Given the description of an element on the screen output the (x, y) to click on. 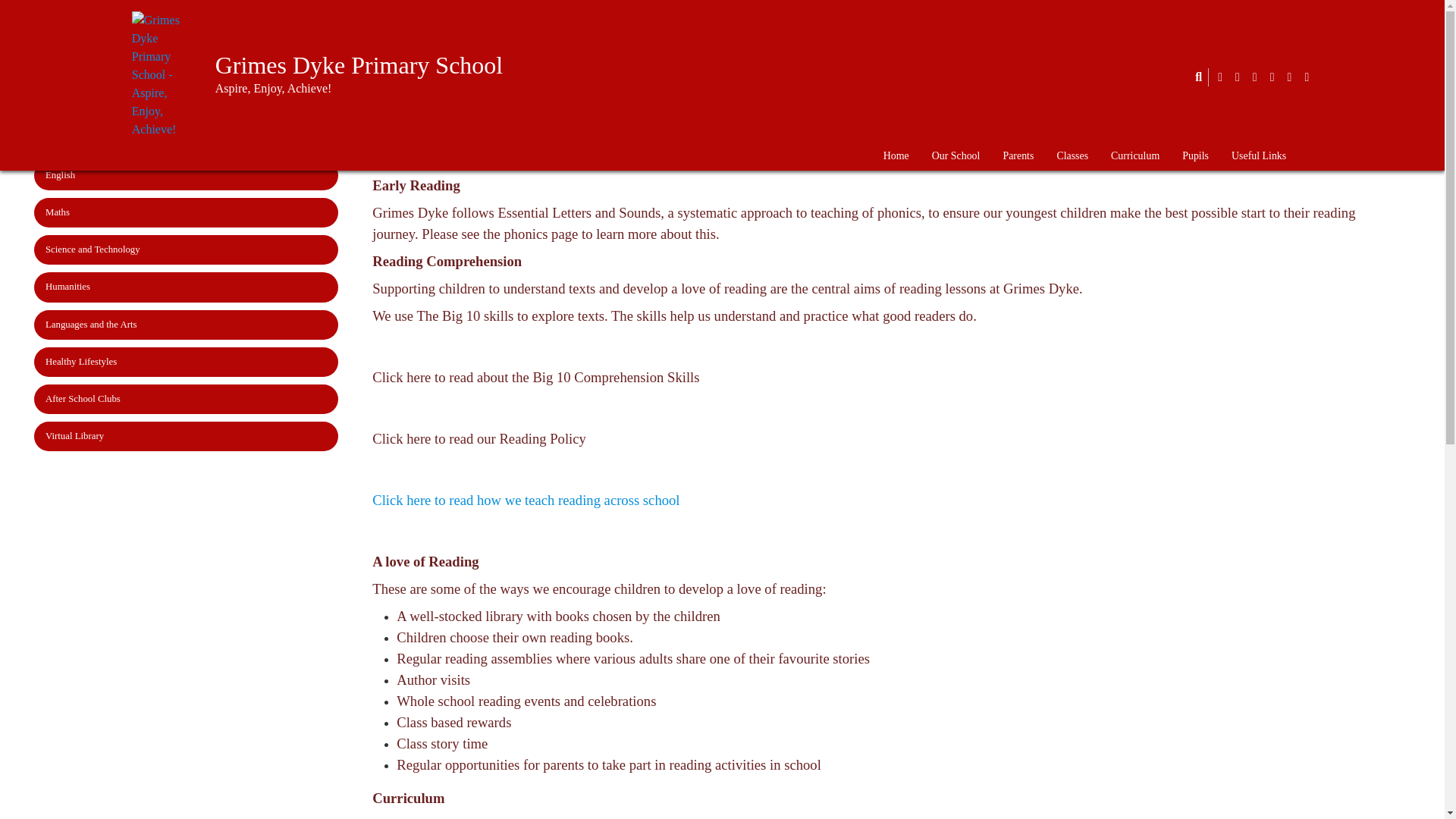
Home (896, 156)
Our School (956, 156)
Click here to read our Reading Policy (479, 438)
Parents (1017, 156)
